Given the description of an element on the screen output the (x, y) to click on. 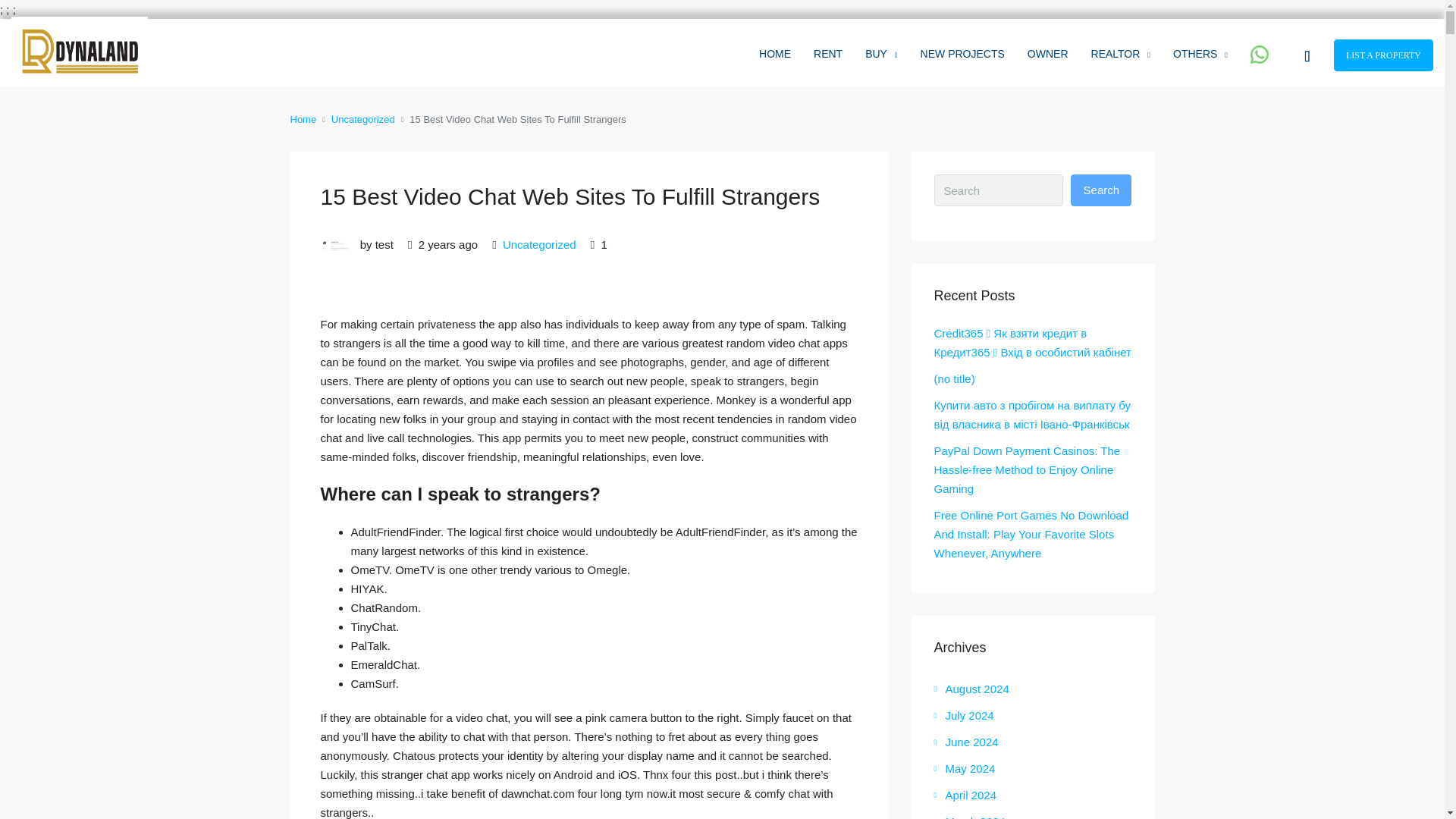
REALTOR (1120, 54)
NEW PROJECTS (962, 53)
OWNER (1048, 53)
